Given the description of an element on the screen output the (x, y) to click on. 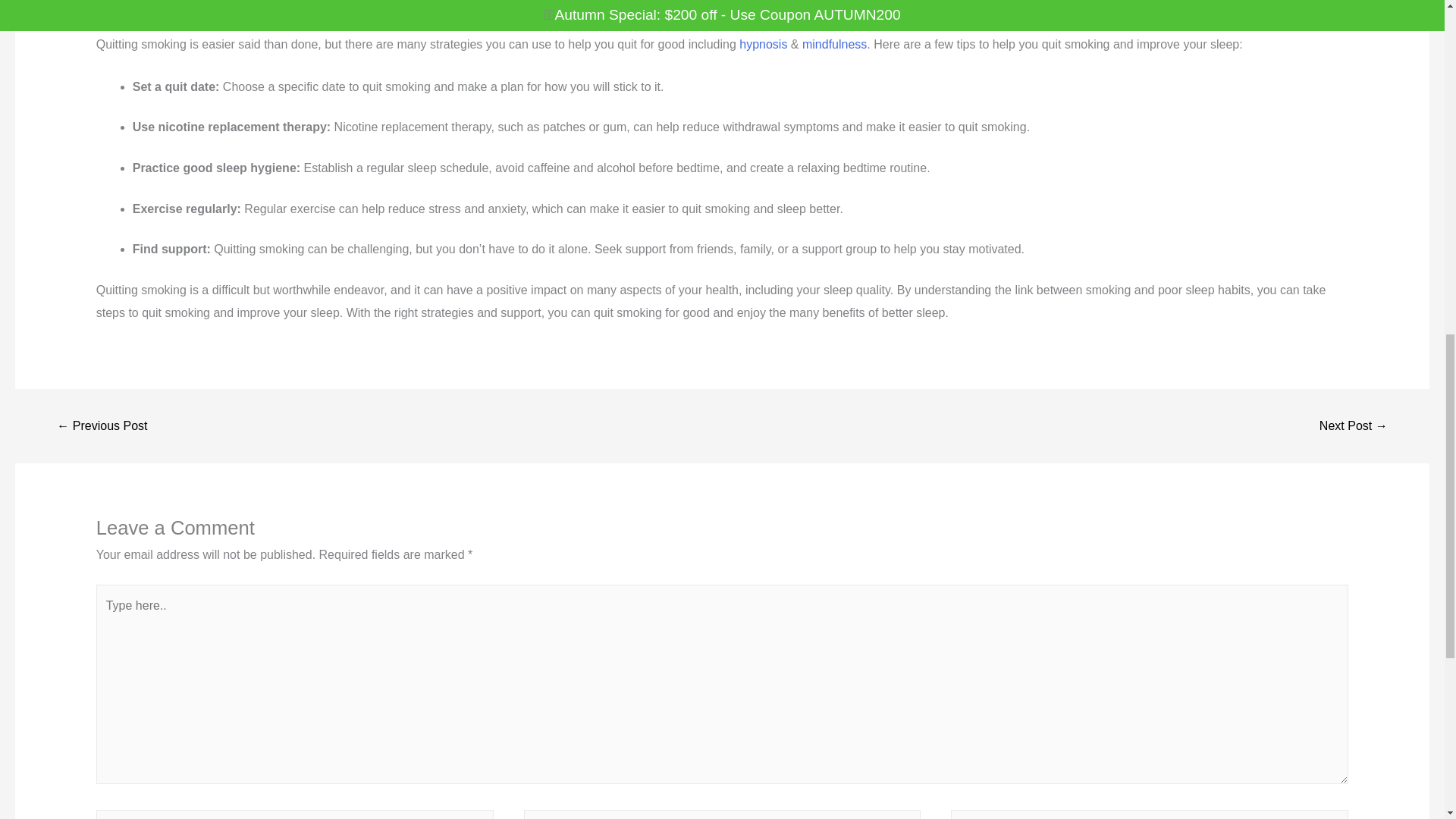
hypnosis (764, 43)
mindfulness (834, 43)
